Given the description of an element on the screen output the (x, y) to click on. 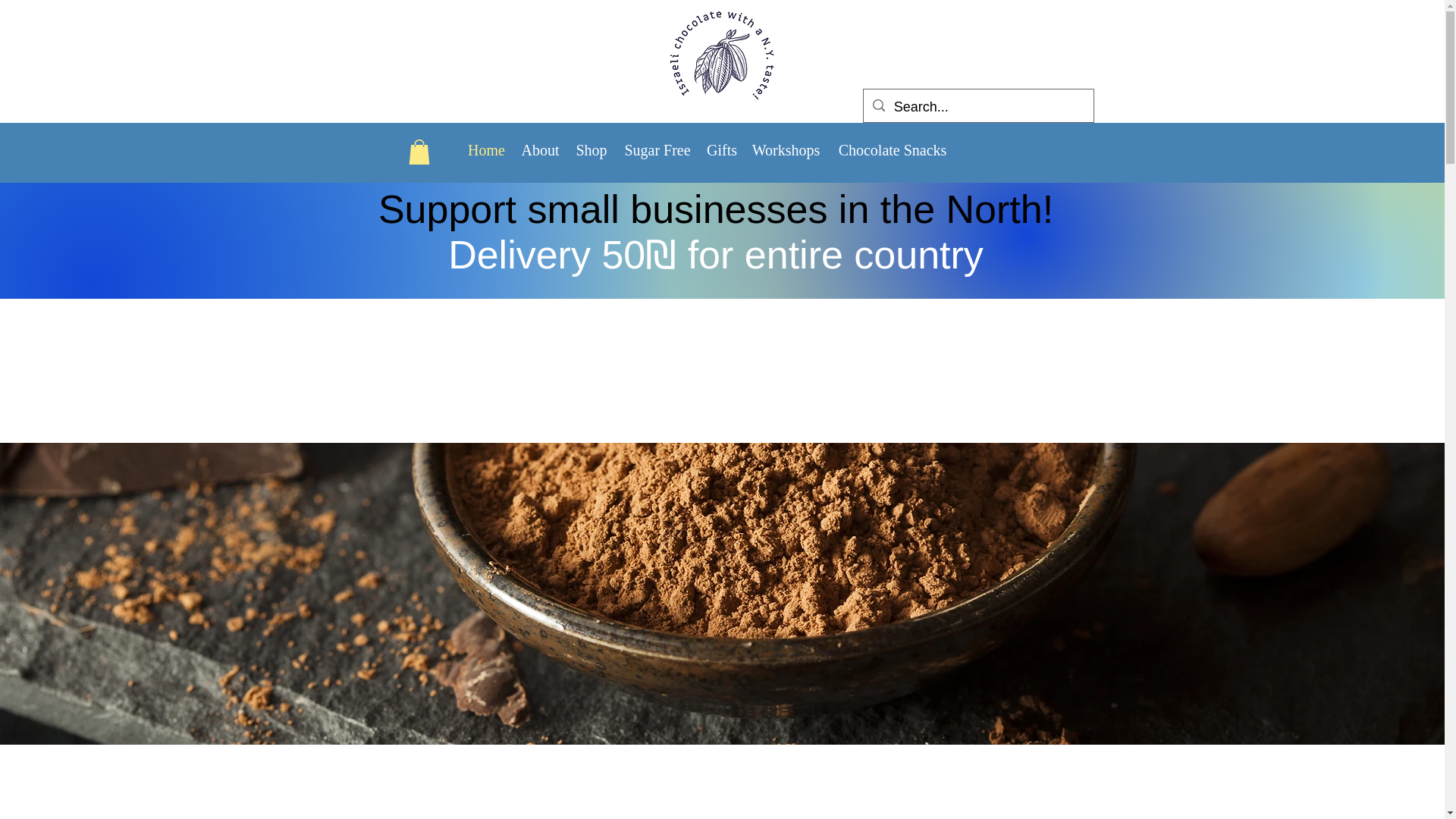
Sugar Free (656, 148)
Gifts (720, 148)
Home (486, 148)
Workshops (785, 148)
Shop (591, 148)
About (540, 148)
Chocolate Snacks (892, 148)
Log In (114, 215)
